Given the description of an element on the screen output the (x, y) to click on. 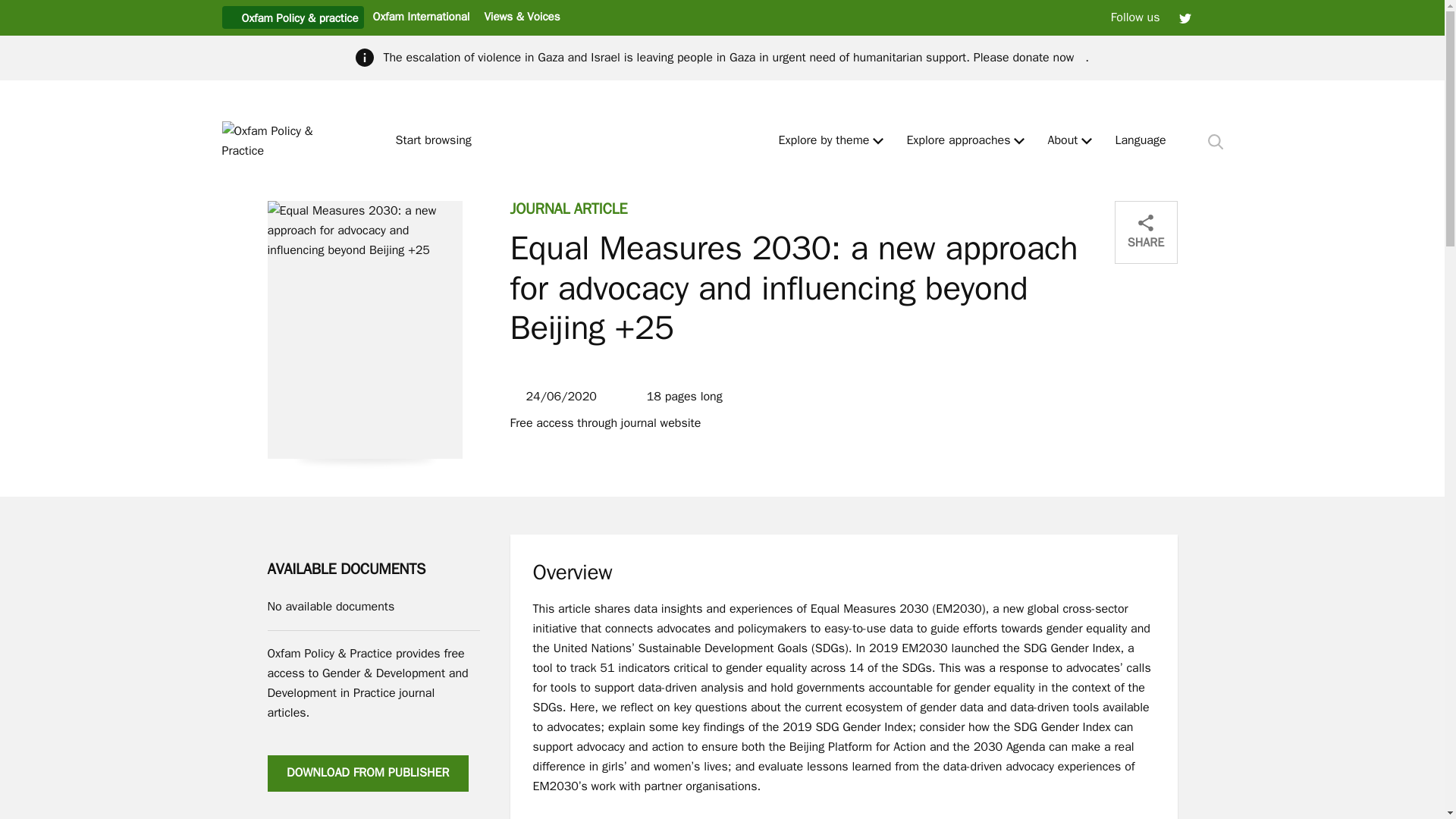
English (1140, 140)
Explore by theme (823, 140)
About (1061, 140)
donate now (1047, 57)
Menu toggle (1019, 141)
Twitter (1184, 17)
Start browsing (439, 140)
Search (1215, 140)
Explore approaches (957, 140)
Menu toggle (1086, 141)
